Given the description of an element on the screen output the (x, y) to click on. 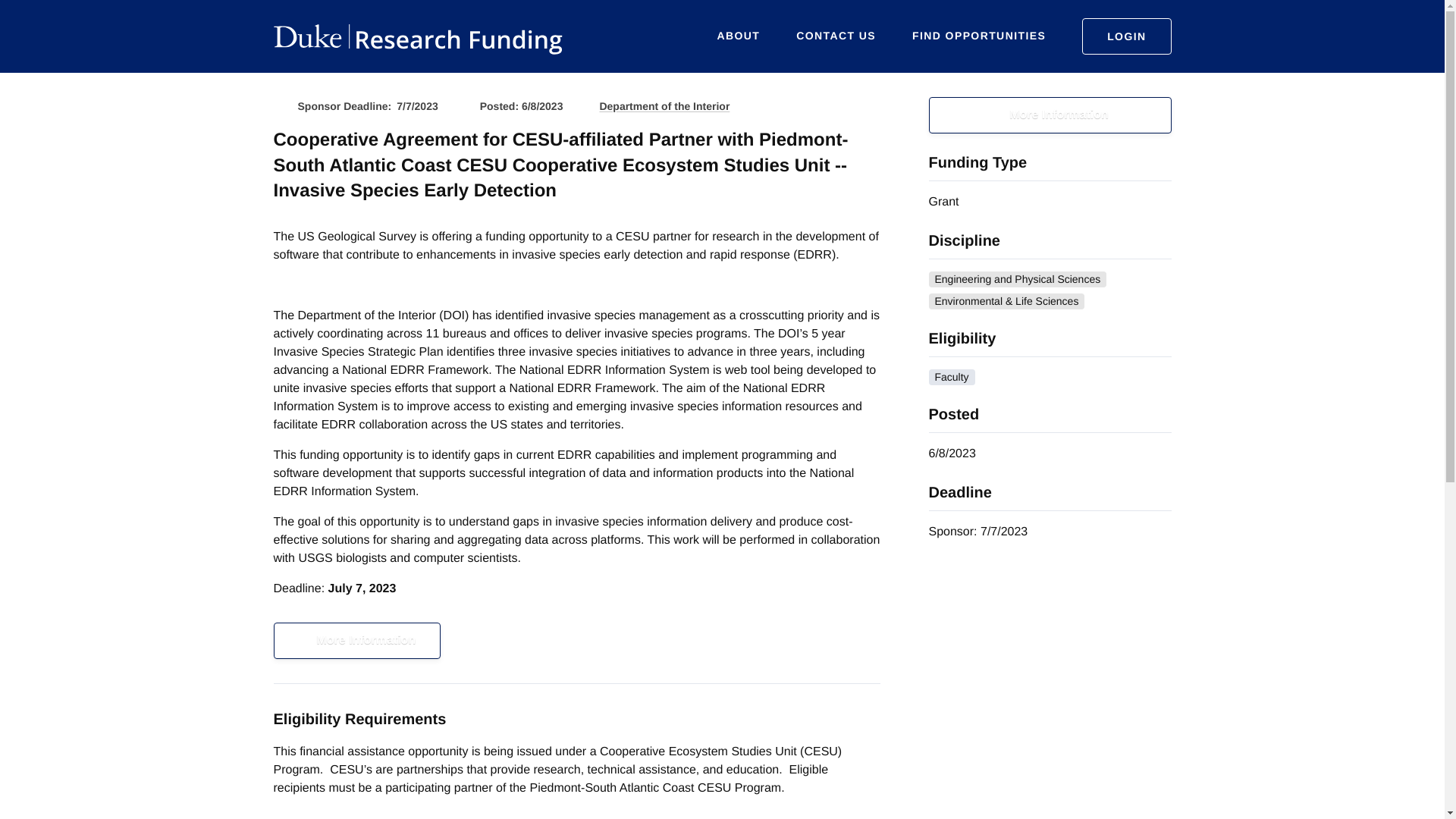
Faculty (951, 376)
Department of the Interior (663, 106)
Grant (943, 201)
LOGIN (1125, 36)
FIND OPPORTUNITIES (978, 35)
More Information (1049, 115)
More Information (357, 640)
ABOUT (738, 35)
Engineering and Physical Sciences (1017, 279)
